Given the description of an element on the screen output the (x, y) to click on. 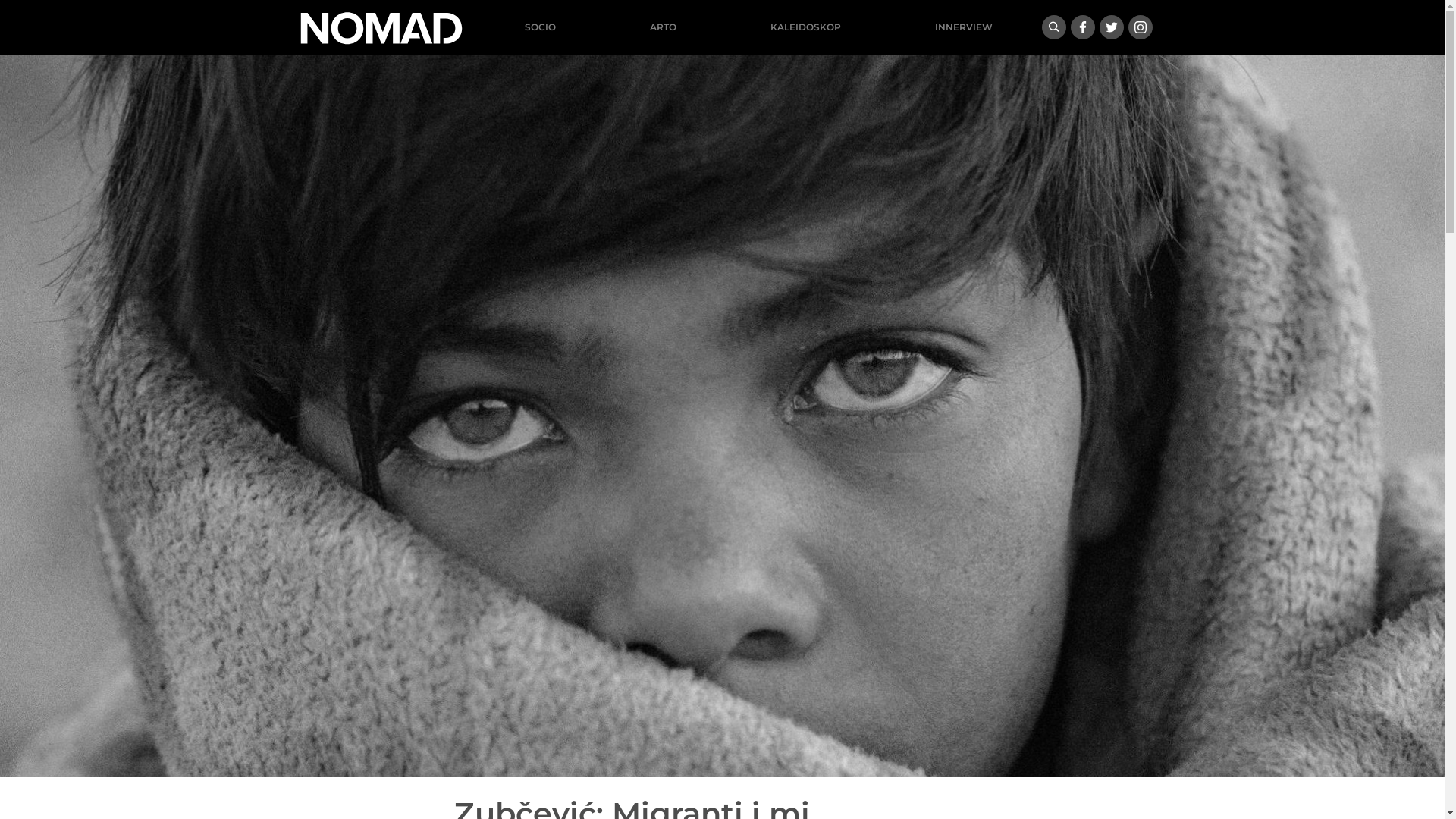
nomad.ba Element type: hover (380, 27)
ARTO Element type: text (662, 26)
KALEIDOSKOP Element type: text (805, 26)
Search Element type: hover (1053, 27)
SOCIO Element type: text (539, 26)
INNERVIEW Element type: text (963, 26)
